Given the description of an element on the screen output the (x, y) to click on. 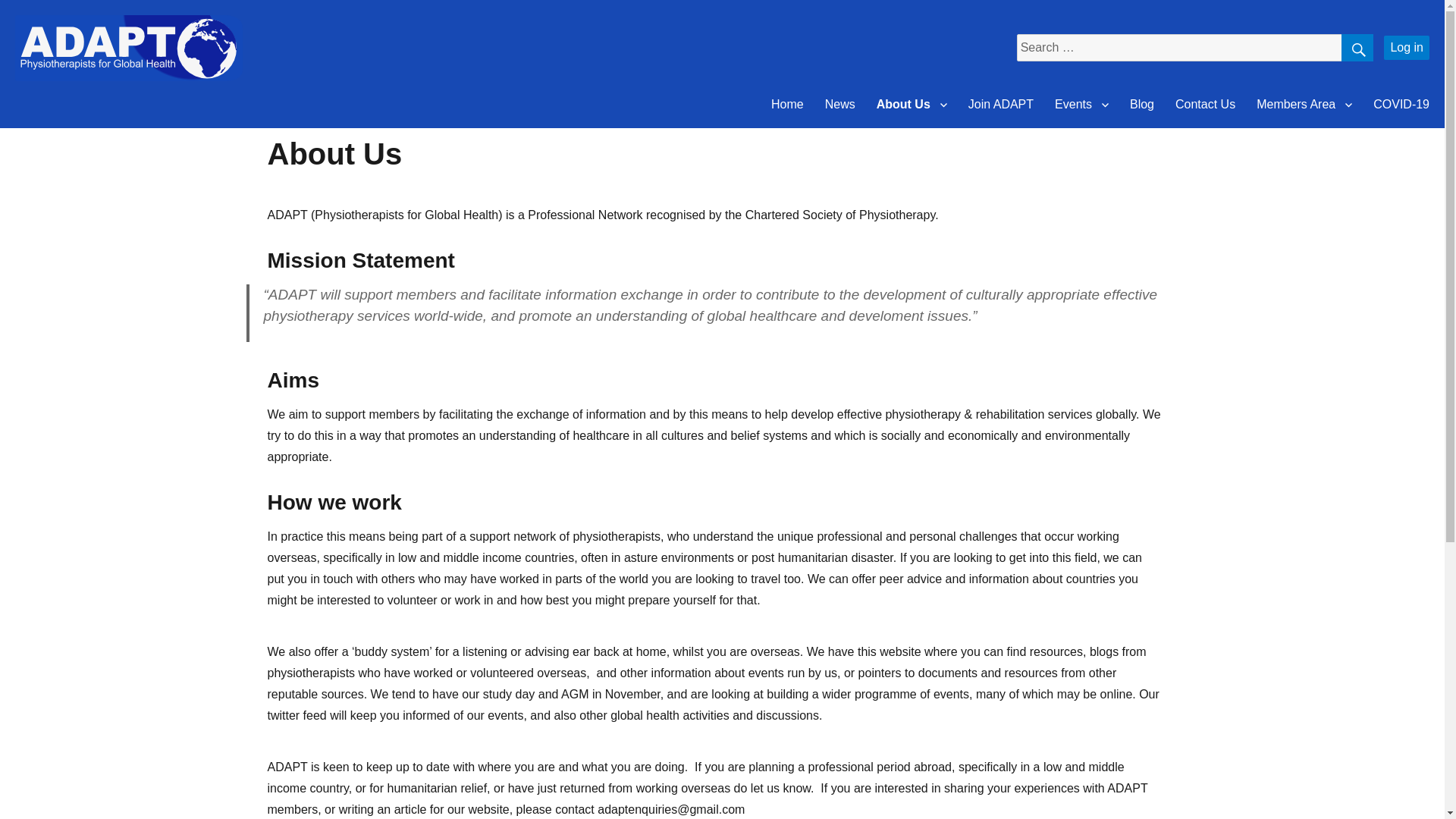
Join ADAPT (1000, 104)
Blog (1141, 104)
Home (786, 104)
News (839, 104)
Search (1356, 47)
Contact Us (1205, 104)
Members Area (1304, 104)
About Us (912, 104)
ADAPT (50, 105)
Log in (1406, 47)
